Given the description of an element on the screen output the (x, y) to click on. 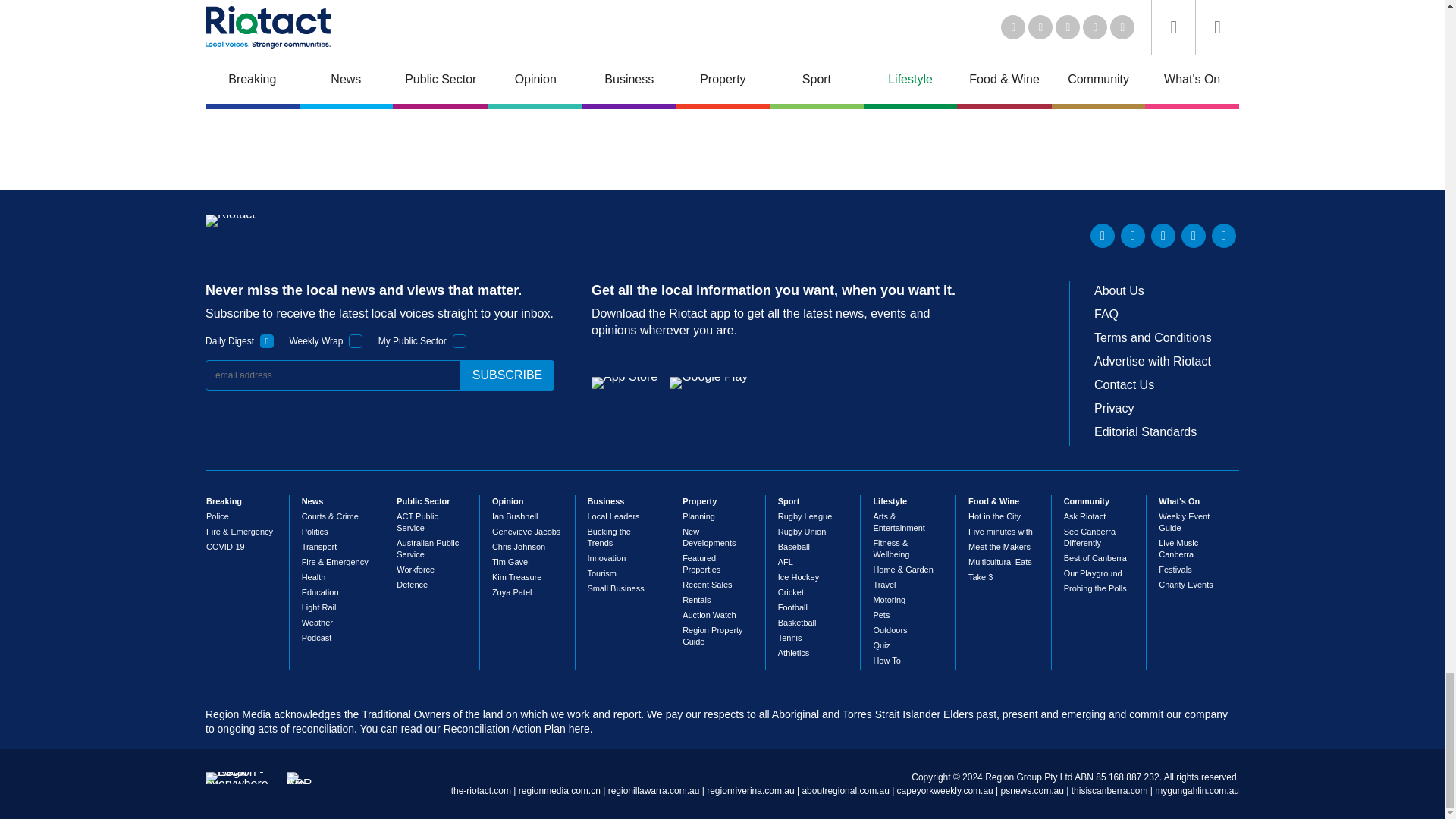
1 (266, 341)
1 (355, 341)
Twitter (1132, 235)
1 (458, 341)
Youtube (1162, 235)
subscribe (507, 375)
App Store (624, 382)
Facebook (1192, 235)
Instagram (1223, 235)
LinkedIn (1102, 235)
